Given the description of an element on the screen output the (x, y) to click on. 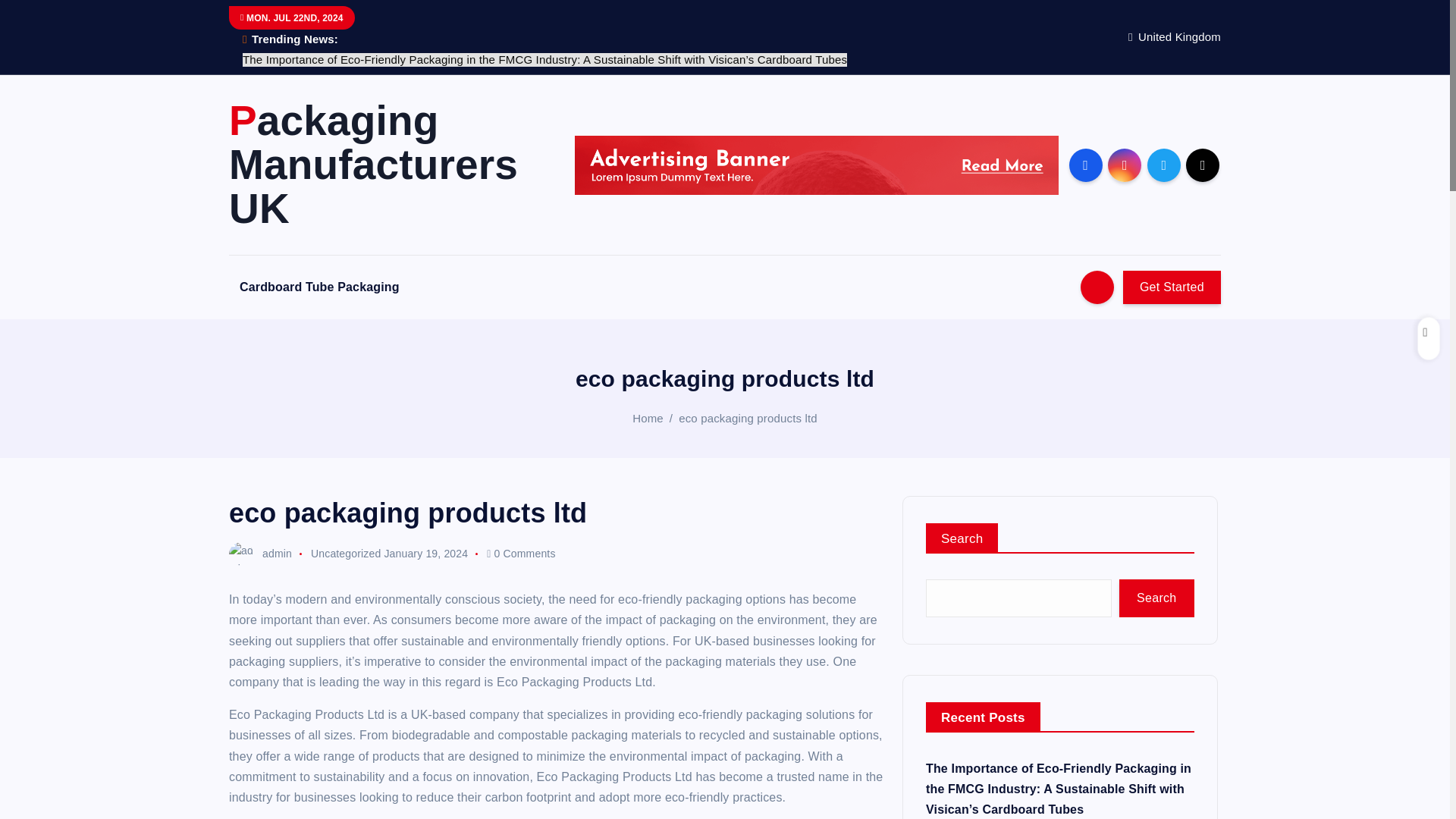
Cardboard Tube Packaging (319, 287)
eco packaging products ltd (747, 418)
Packaging Manufacturers UK (387, 164)
admin (260, 553)
Cardboard Tube Packaging (319, 287)
Home (647, 418)
Search (1156, 598)
Uncategorized (345, 553)
Get Started (1171, 287)
